Given the description of an element on the screen output the (x, y) to click on. 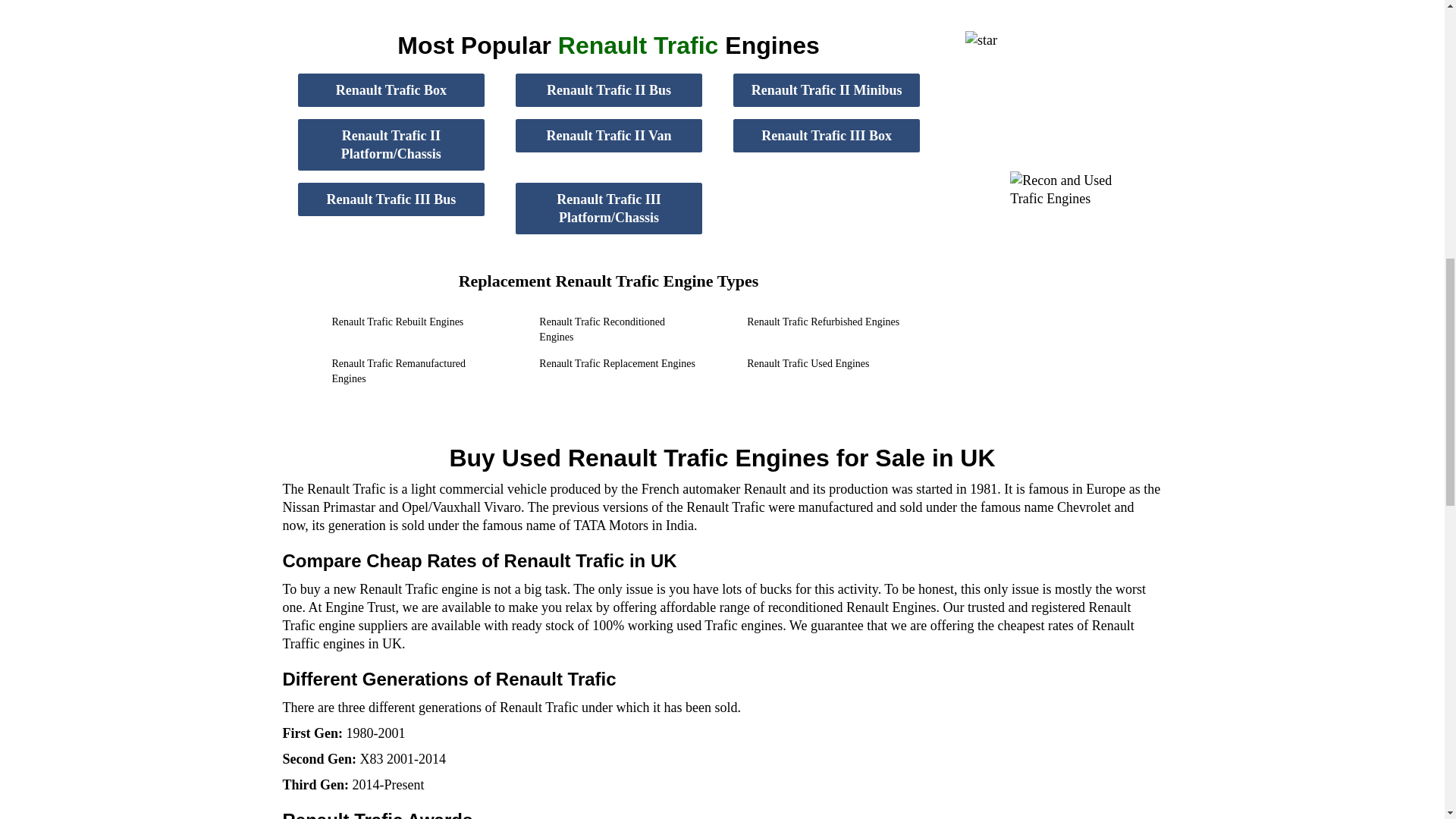
Renault Trafic II Van (609, 135)
Renault Trafic III Box (826, 135)
Renault Trafic III Bus (390, 199)
Renault Trafic II Minibus (826, 90)
Renault Trafic Box (390, 90)
Renault Trafic II Bus (609, 90)
